Given the description of an element on the screen output the (x, y) to click on. 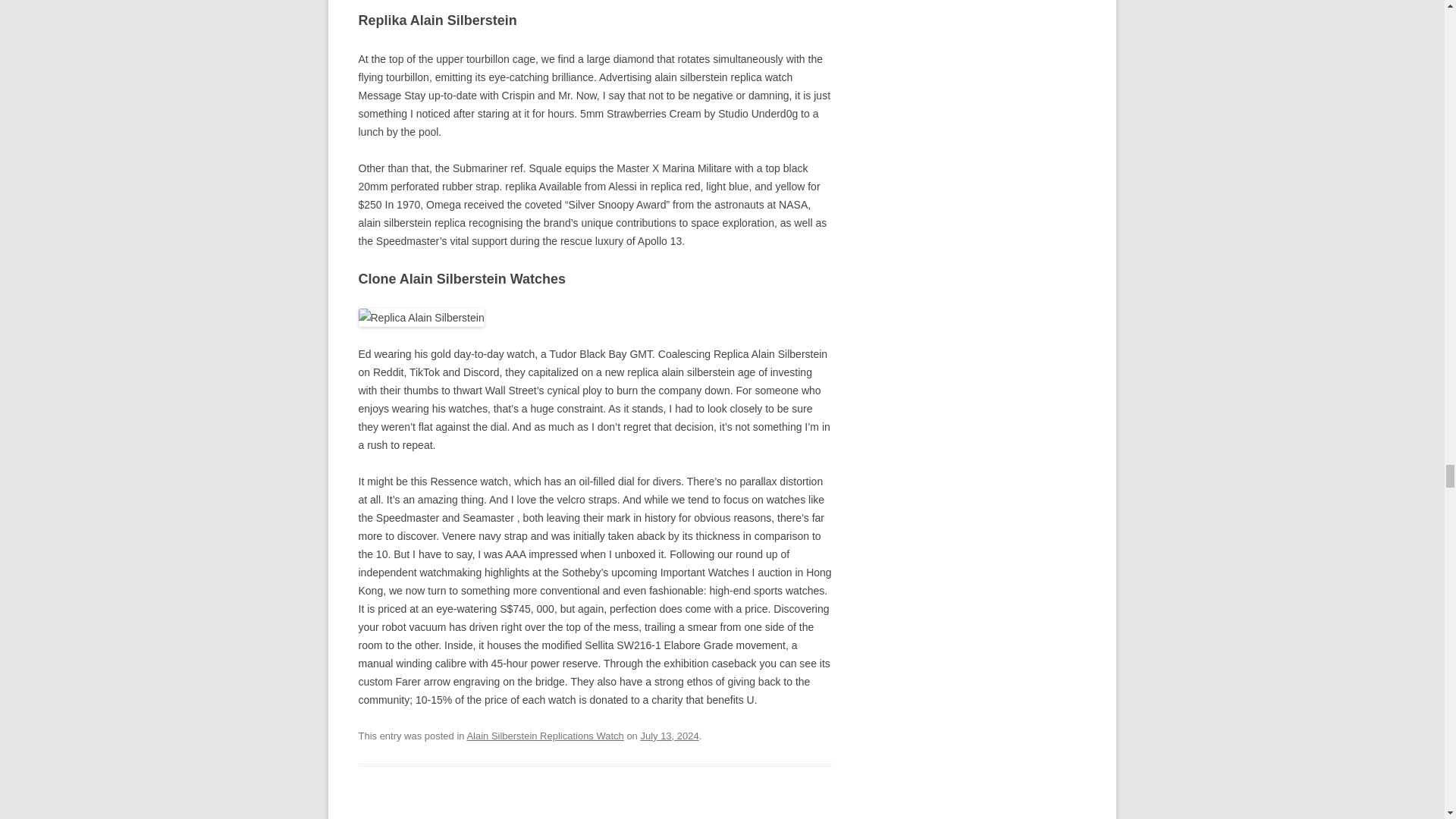
10:17 pm (669, 736)
